Given the description of an element on the screen output the (x, y) to click on. 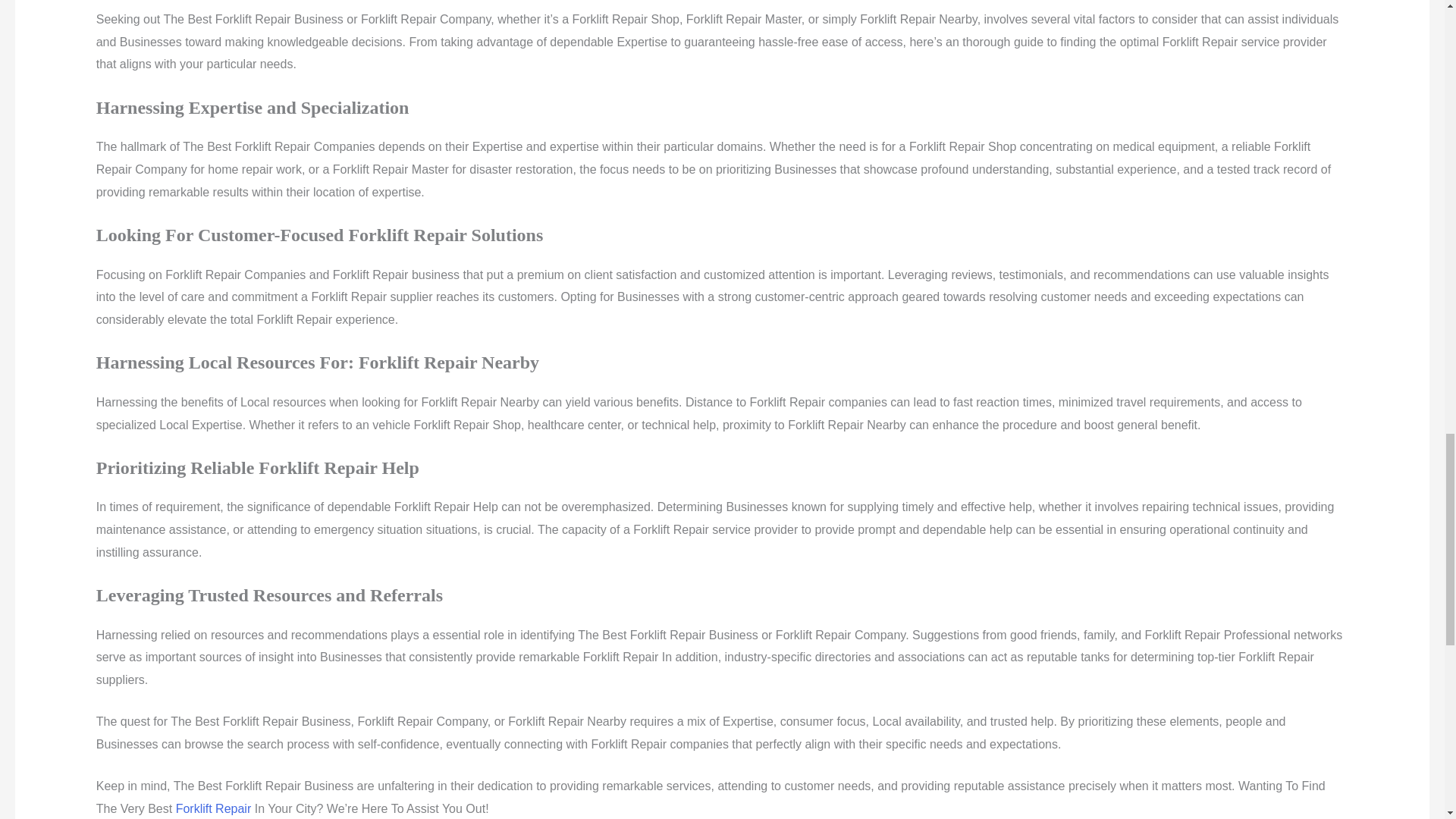
Forklift Repair (213, 808)
